Given the description of an element on the screen output the (x, y) to click on. 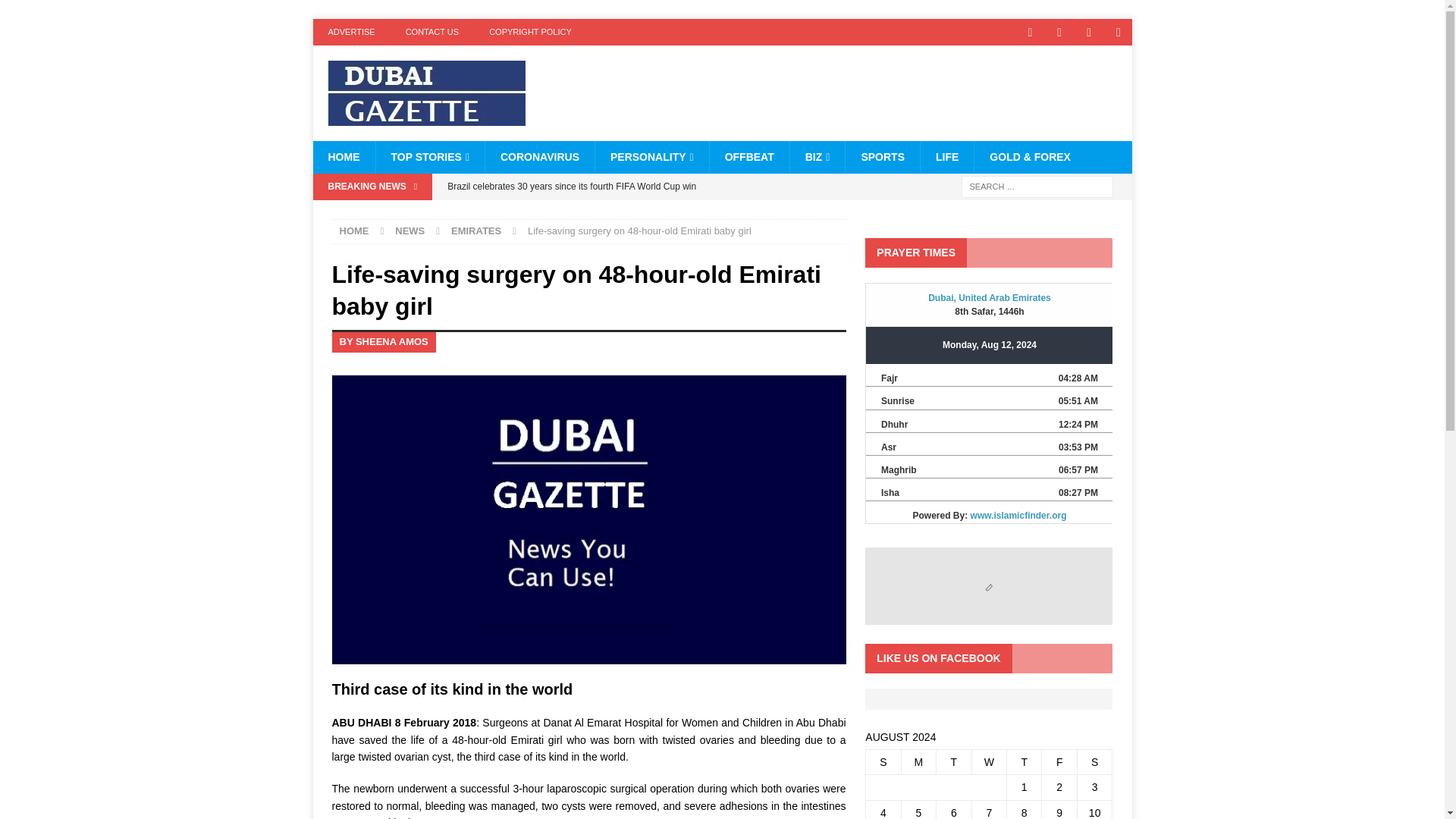
Tuesday (953, 761)
Monday (918, 761)
Wednesday (988, 761)
HOME (343, 156)
ADVERTISE (351, 31)
Thursday (1024, 761)
Sunday (883, 761)
CONTACT US (432, 31)
